Given the description of an element on the screen output the (x, y) to click on. 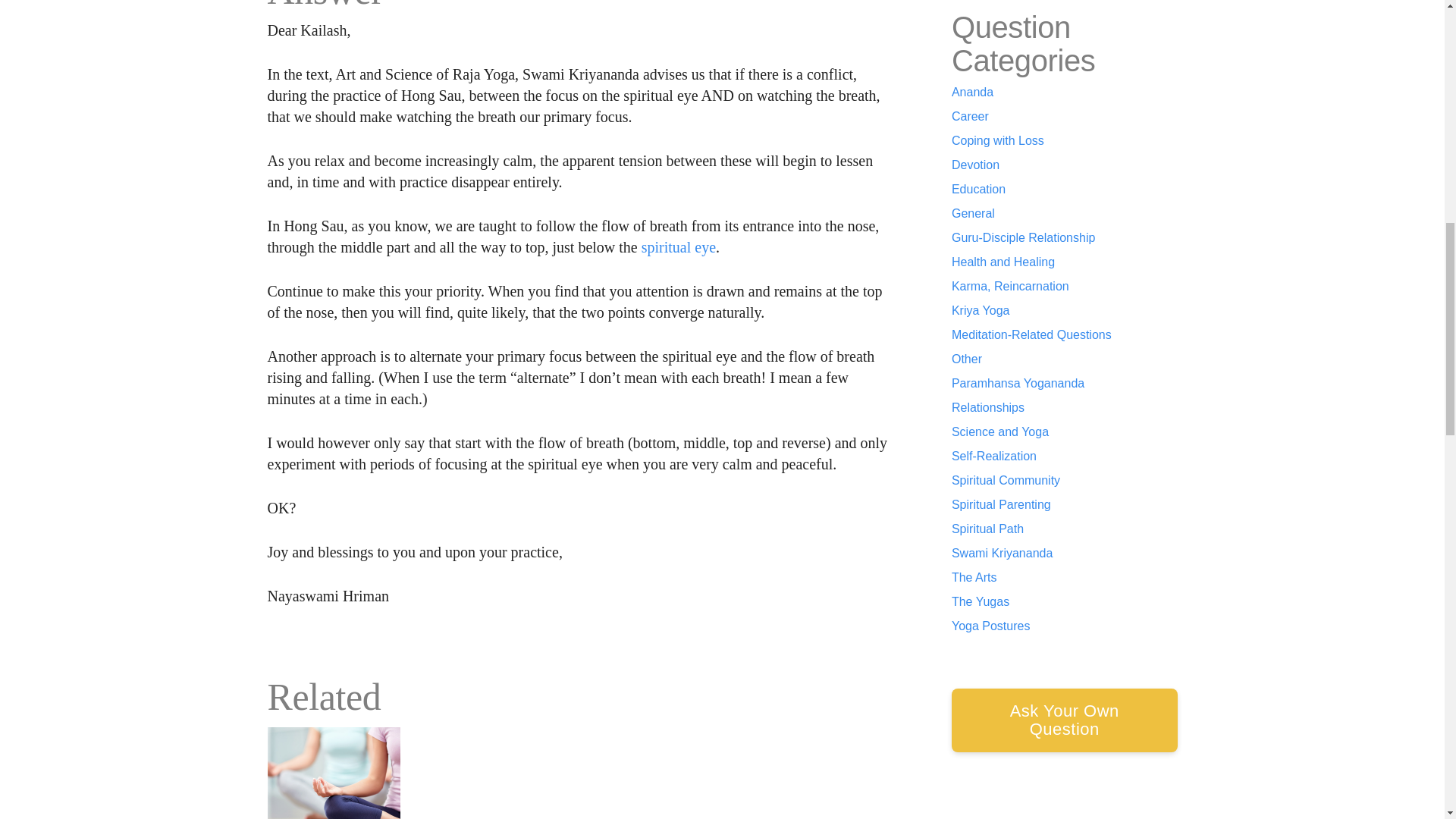
spiritual eye (679, 247)
